Given the description of an element on the screen output the (x, y) to click on. 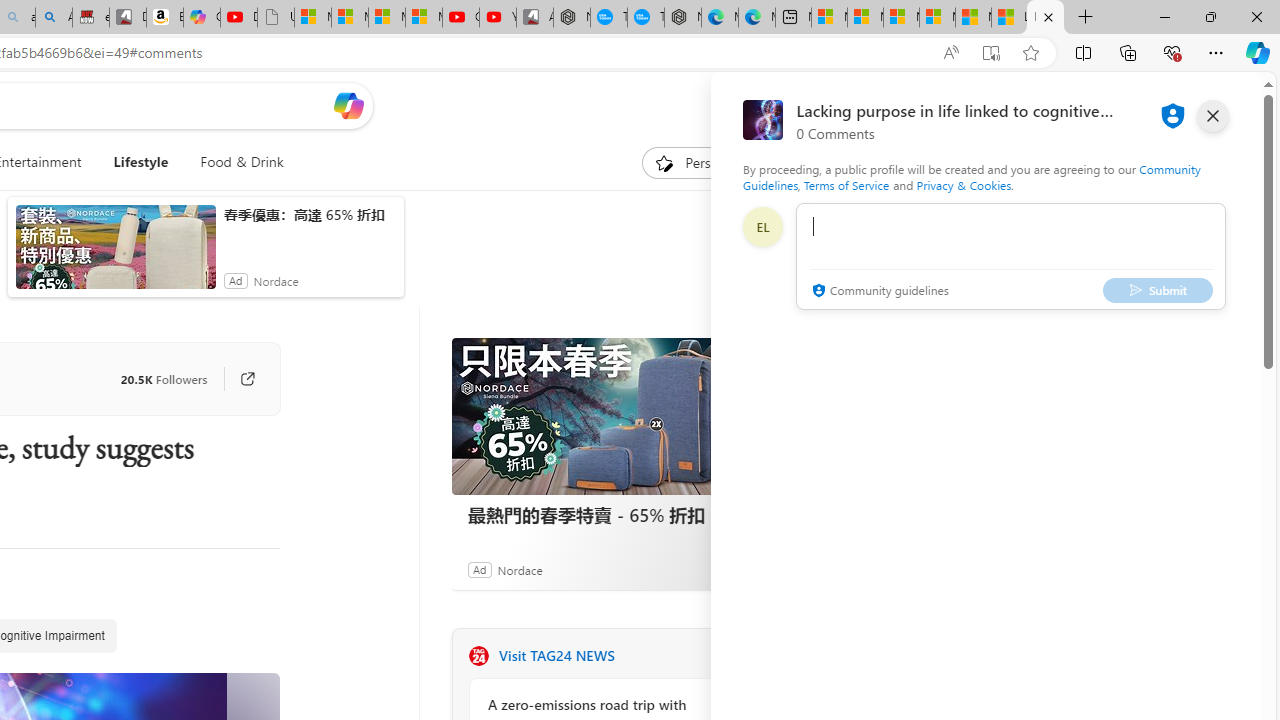
Untitled (276, 17)
Submit (1158, 290)
Copilot (202, 17)
Go to publisher's site (237, 378)
YouTube Kids - An App Created for Kids to Explore Content (497, 17)
All Cubot phones (534, 17)
Community Guidelines (971, 176)
